Given the description of an element on the screen output the (x, y) to click on. 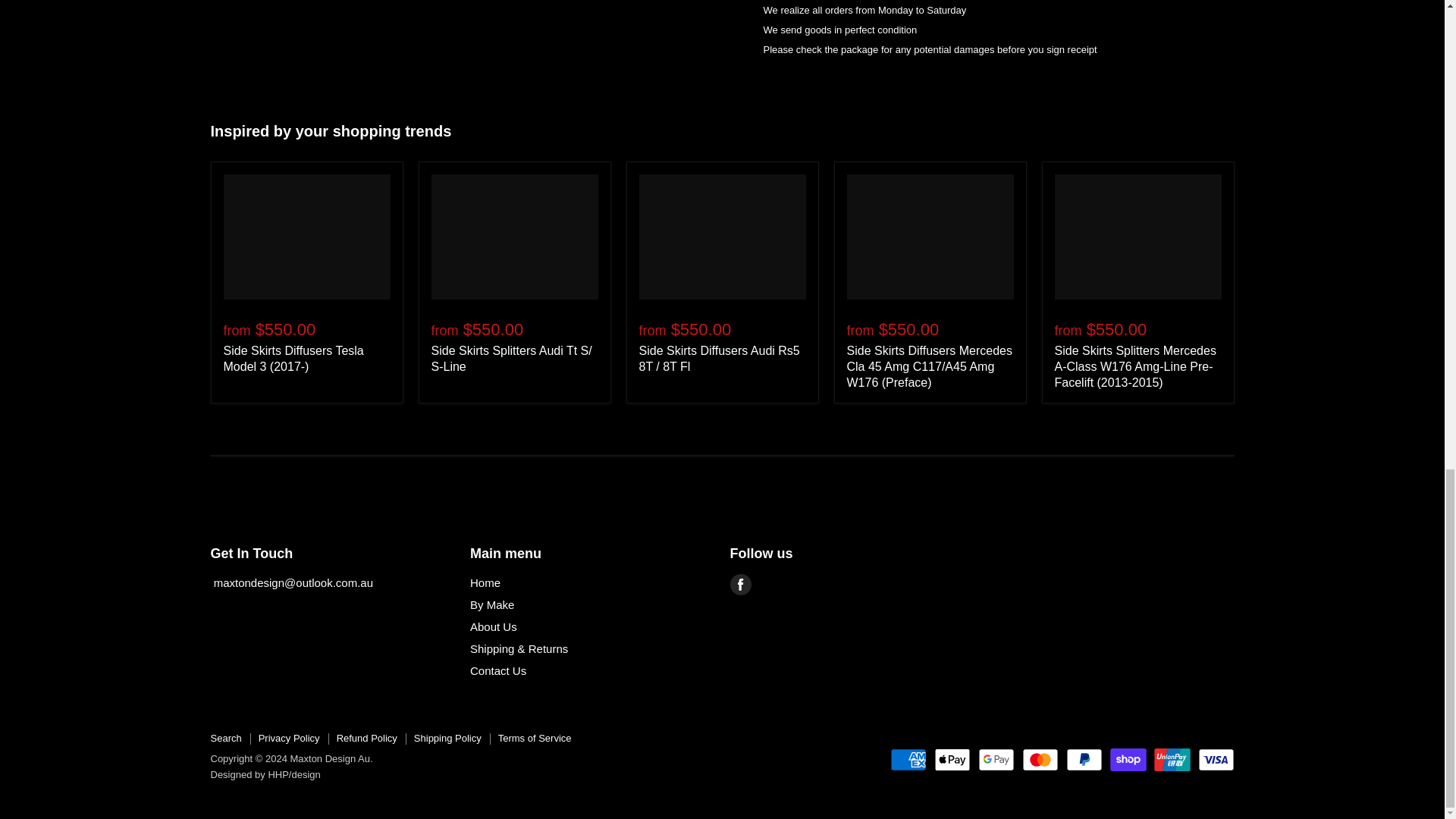
Apple Pay (952, 759)
PayPal (1083, 759)
American Express (907, 759)
Visa (1216, 759)
Google Pay (996, 759)
Facebook (740, 584)
Shop Pay (1128, 759)
Mastercard (1040, 759)
Union Pay (1172, 759)
